Given the description of an element on the screen output the (x, y) to click on. 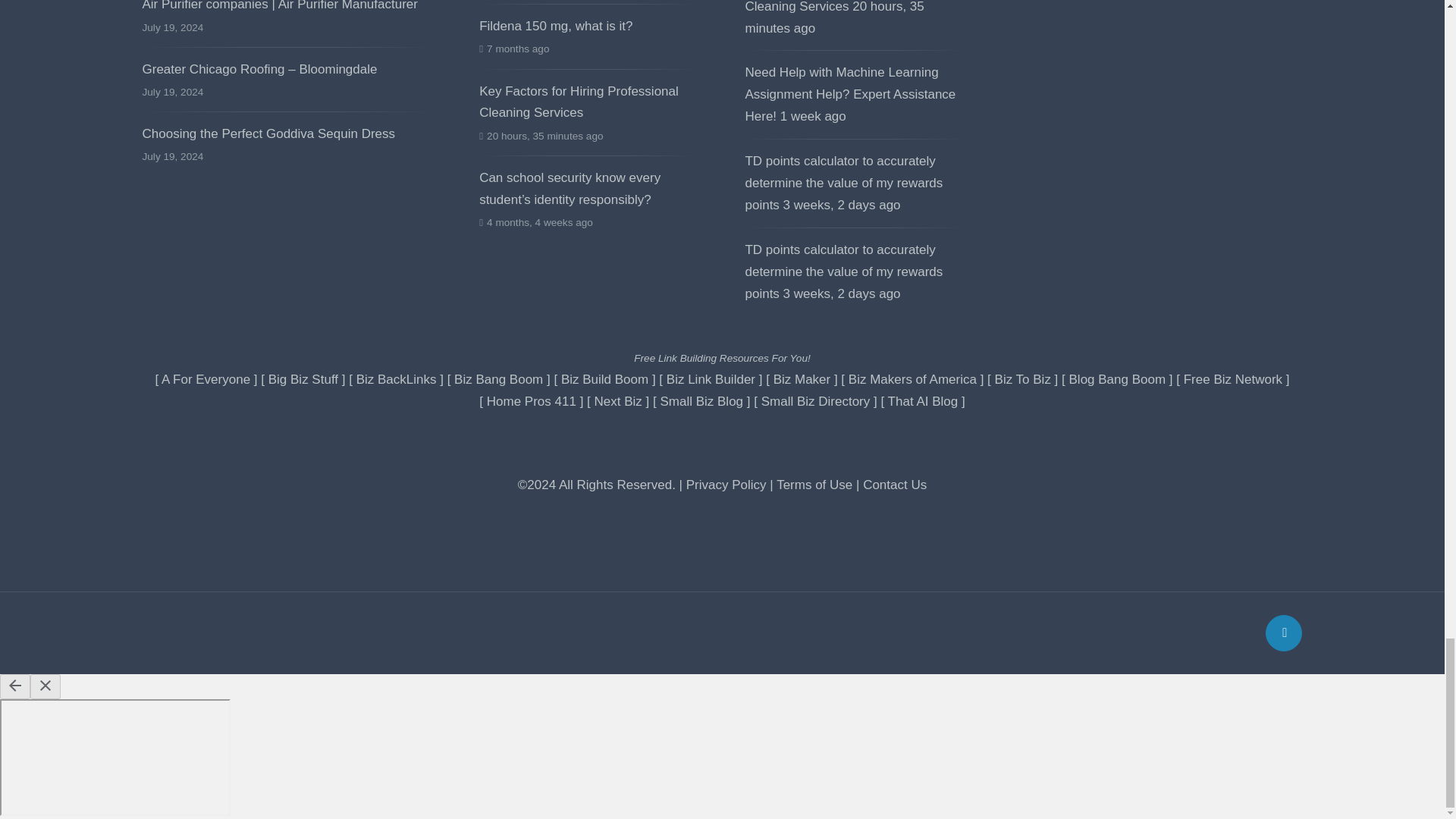
Big Biz Stuff - FREE Link building. (302, 379)
Biz BackLinks - FREE Link building. (396, 379)
A For Everyone - FREE Link building. (205, 379)
